Given the description of an element on the screen output the (x, y) to click on. 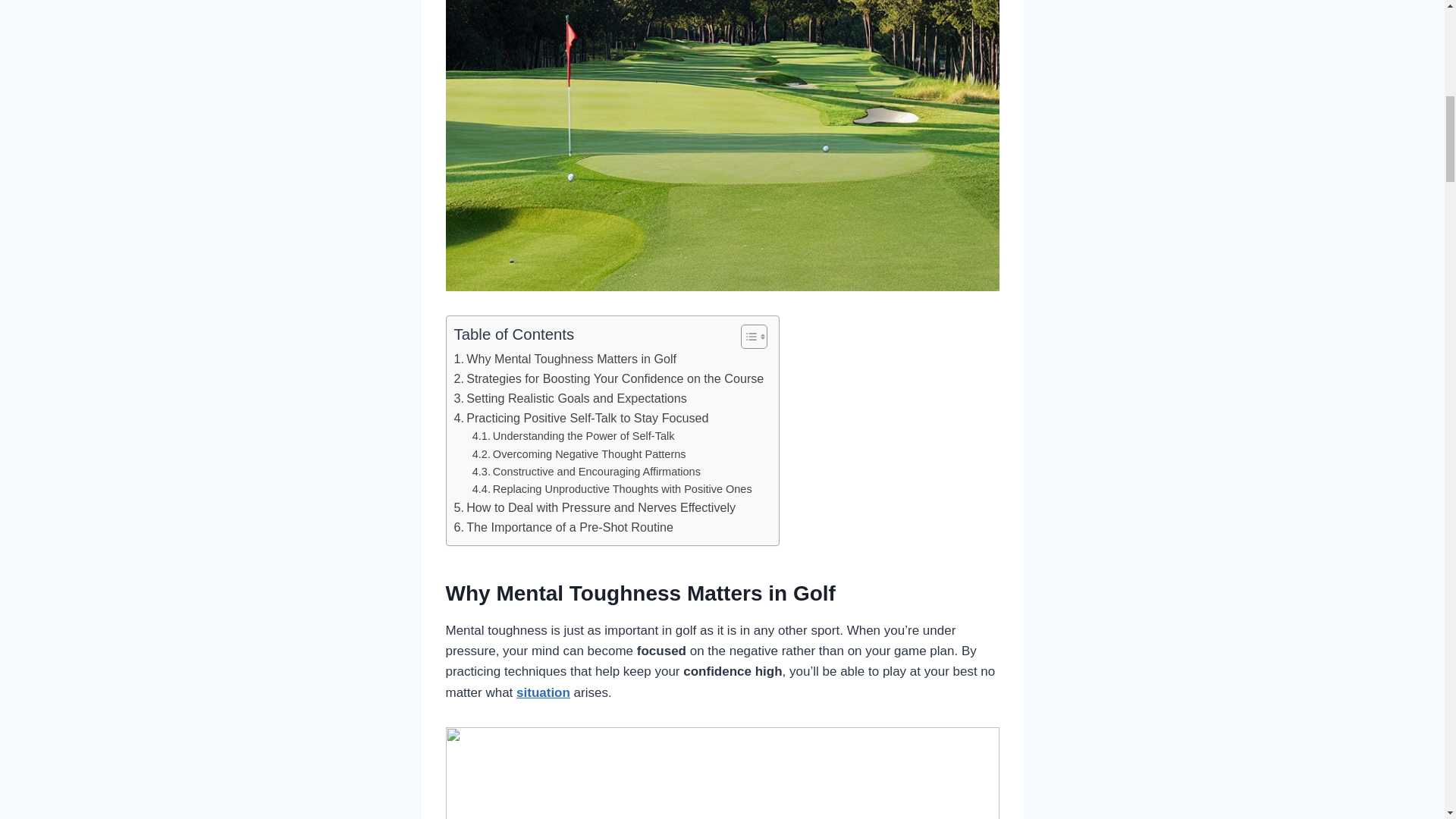
Constructive and Encouraging Affirmations (585, 471)
Practicing Positive Self-Talk to Stay Focused (579, 418)
Overcoming Negative Thought Patterns (578, 454)
Understanding the Power of Self-Talk (573, 436)
Replacing Unproductive Thoughts with Positive Ones (611, 488)
Replacing Unproductive Thoughts with Positive Ones (611, 488)
Practicing Positive Self-Talk to Stay Focused (579, 418)
How to Deal with Pressure and Nerves Effectively (593, 507)
Overcoming Negative Thought Patterns (578, 454)
The Importance of a Pre-Shot Routine (562, 527)
Setting Realistic Goals and Expectations (568, 398)
How to Deal with Pressure and Nerves Effectively (593, 507)
The Importance of a Pre-Shot Routine (562, 527)
Why Mental Toughness Matters in Golf (564, 359)
Understanding the Power of Self-Talk (573, 436)
